Given the description of an element on the screen output the (x, y) to click on. 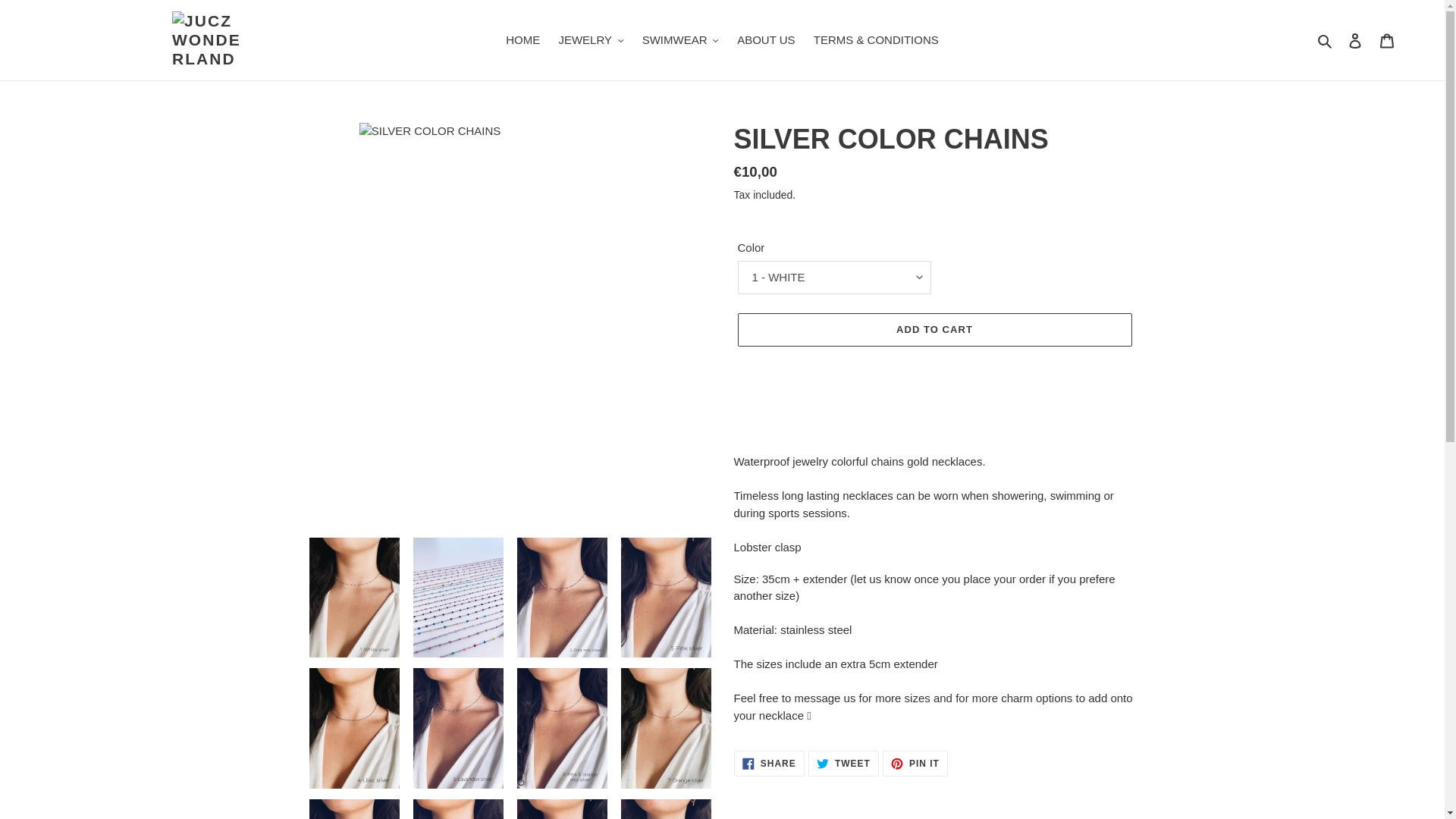
Log in (1355, 40)
ABOUT US (765, 40)
JEWELRY (590, 40)
Search (1326, 40)
HOME (522, 40)
Cart (1387, 40)
SWIMWEAR (680, 40)
